Given the description of an element on the screen output the (x, y) to click on. 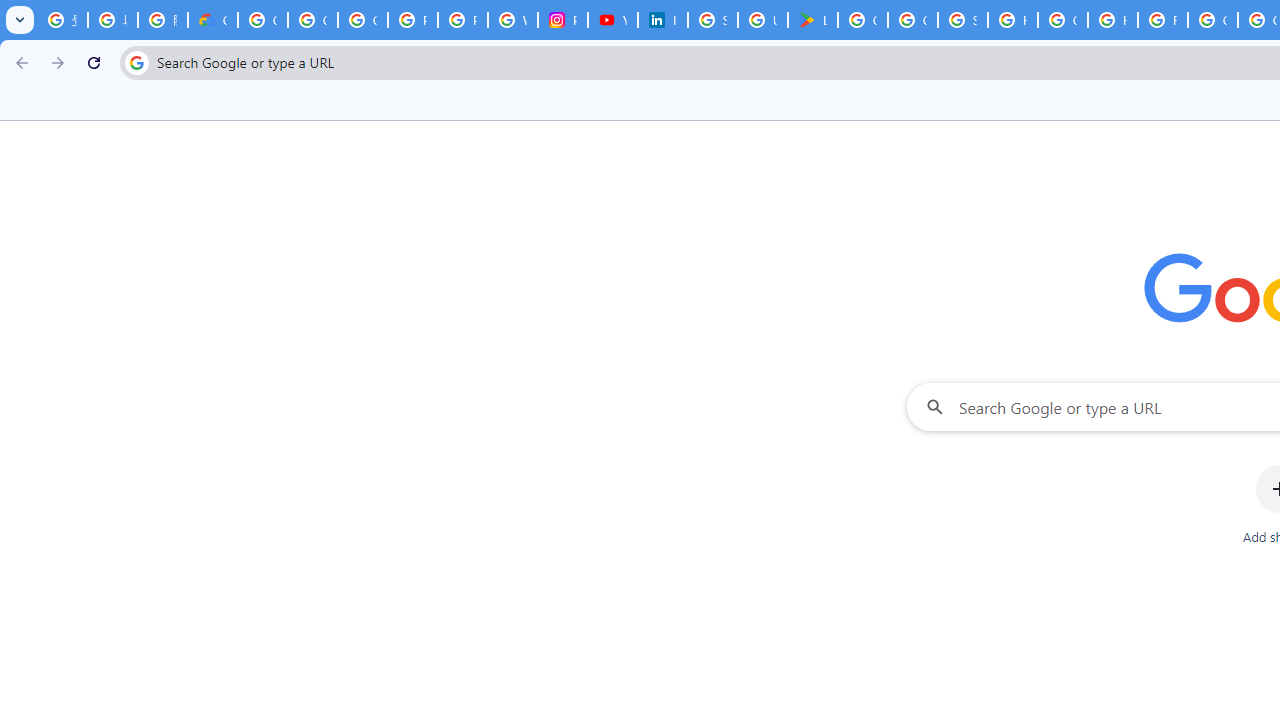
YouTube Culture & Trends - On The Rise: Handcam Videos (612, 20)
Sign in - Google Accounts (963, 20)
